Given the description of an element on the screen output the (x, y) to click on. 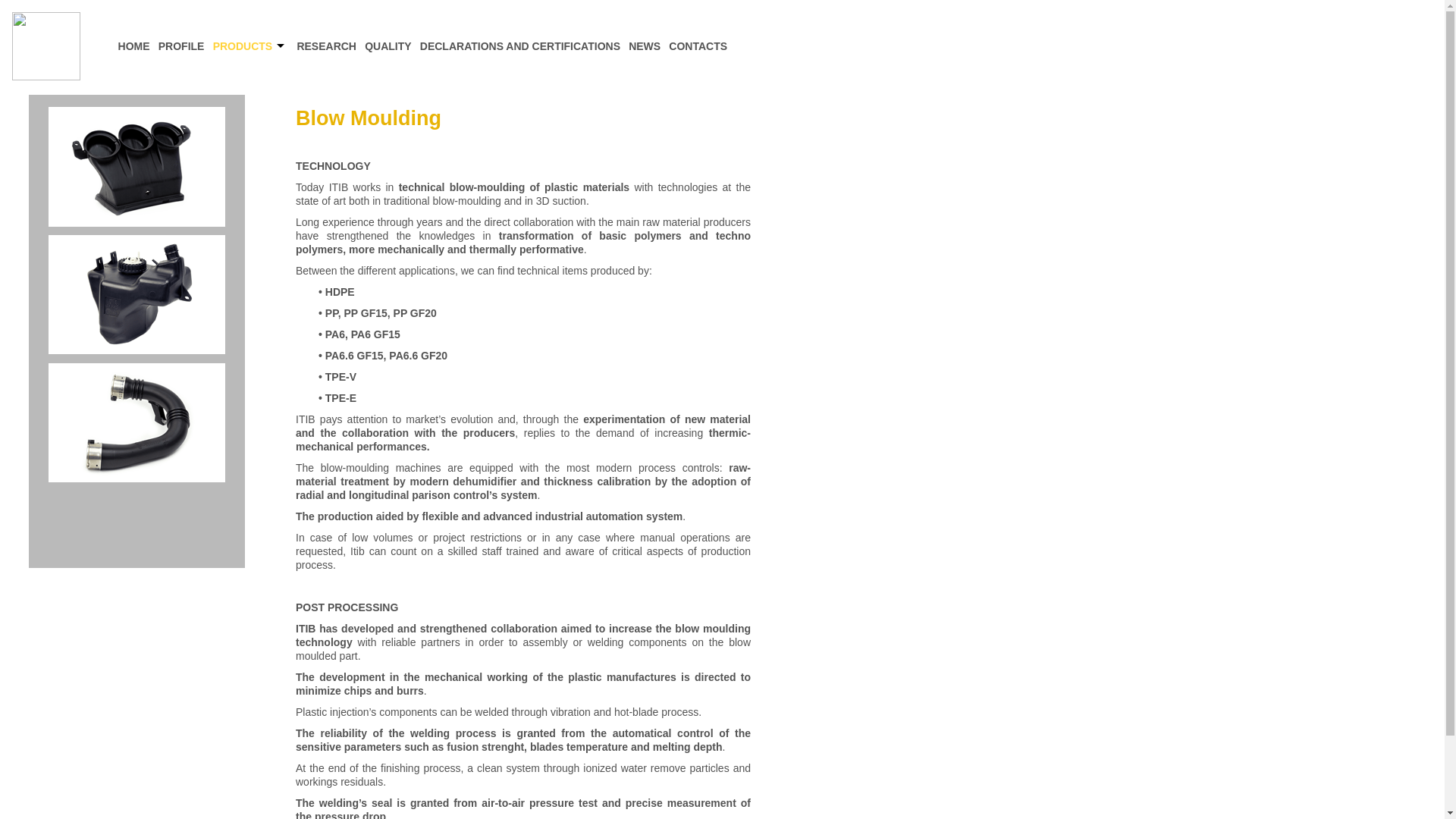
NEWS (644, 46)
RESEARCH (326, 46)
CONTACTS (698, 46)
PROFILE (181, 46)
PRODUCTS (250, 46)
DECLARATIONS AND CERTIFICATIONS (519, 46)
HOME (133, 46)
QUALITY (388, 46)
